Given the description of an element on the screen output the (x, y) to click on. 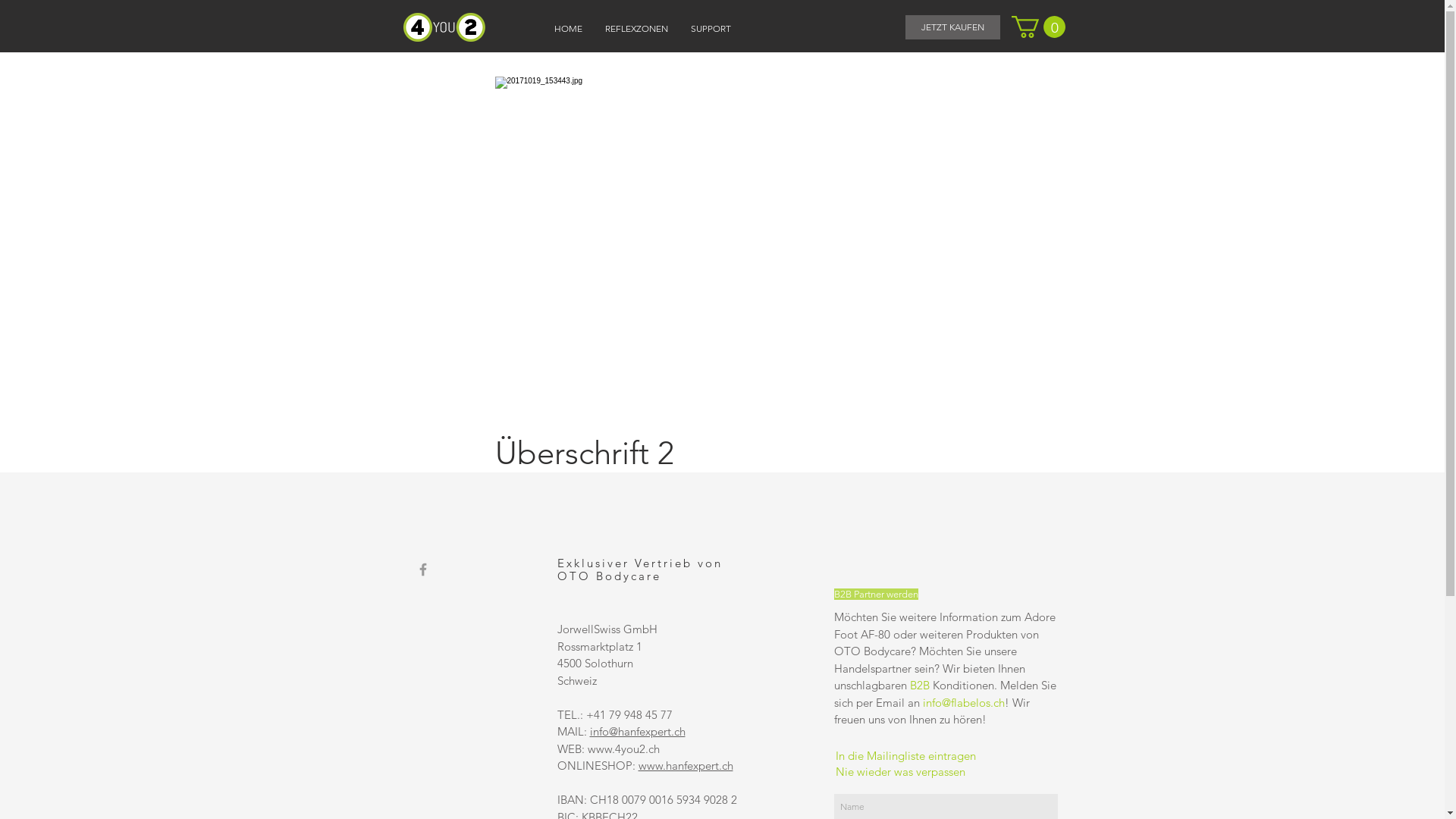
JETZT KAUFEN Element type: text (952, 27)
4you2.ch Element type: hover (444, 26)
info@flabelos.ch Element type: text (963, 701)
SUPPORT Element type: text (710, 28)
0 Element type: text (1038, 26)
HOME Element type: text (567, 28)
www.4you2.ch Element type: text (622, 748)
REFLEXZONEN Element type: text (636, 28)
info@hanfexpert.ch Element type: text (637, 731)
www.hanfexpert.ch Element type: text (685, 765)
